Given the description of an element on the screen output the (x, y) to click on. 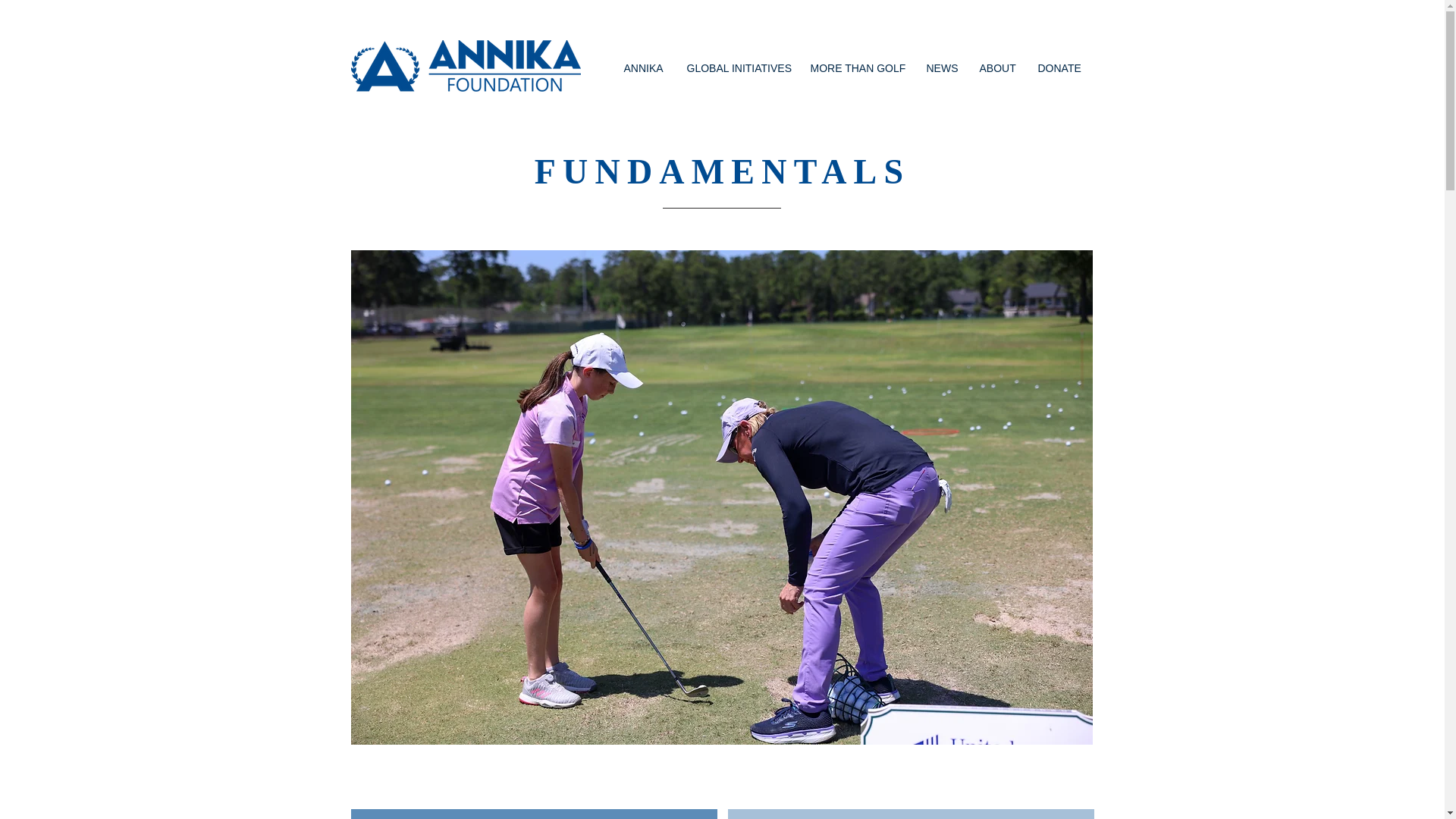
NEWS (941, 68)
DONATE (1059, 68)
MORE THAN GOLF (857, 68)
